Given the description of an element on the screen output the (x, y) to click on. 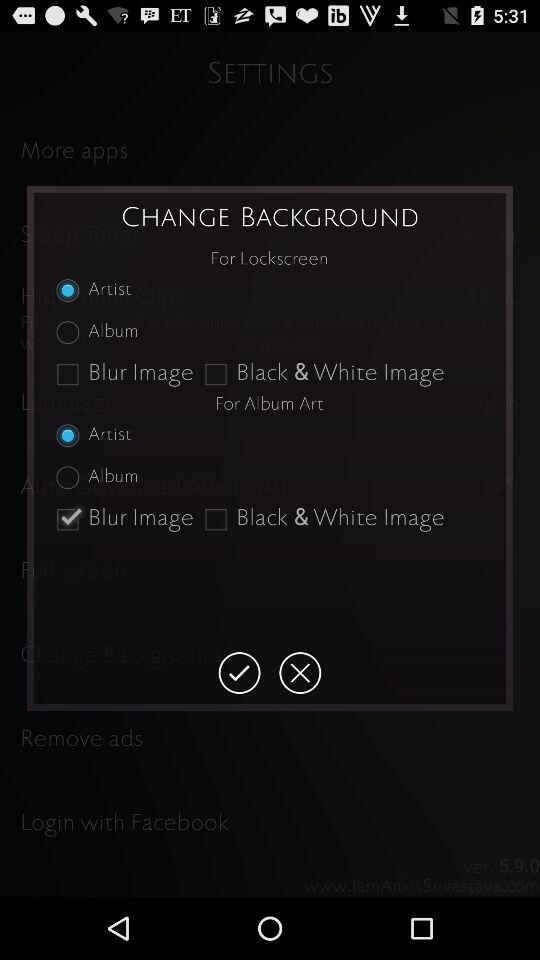
accept (239, 673)
